Given the description of an element on the screen output the (x, y) to click on. 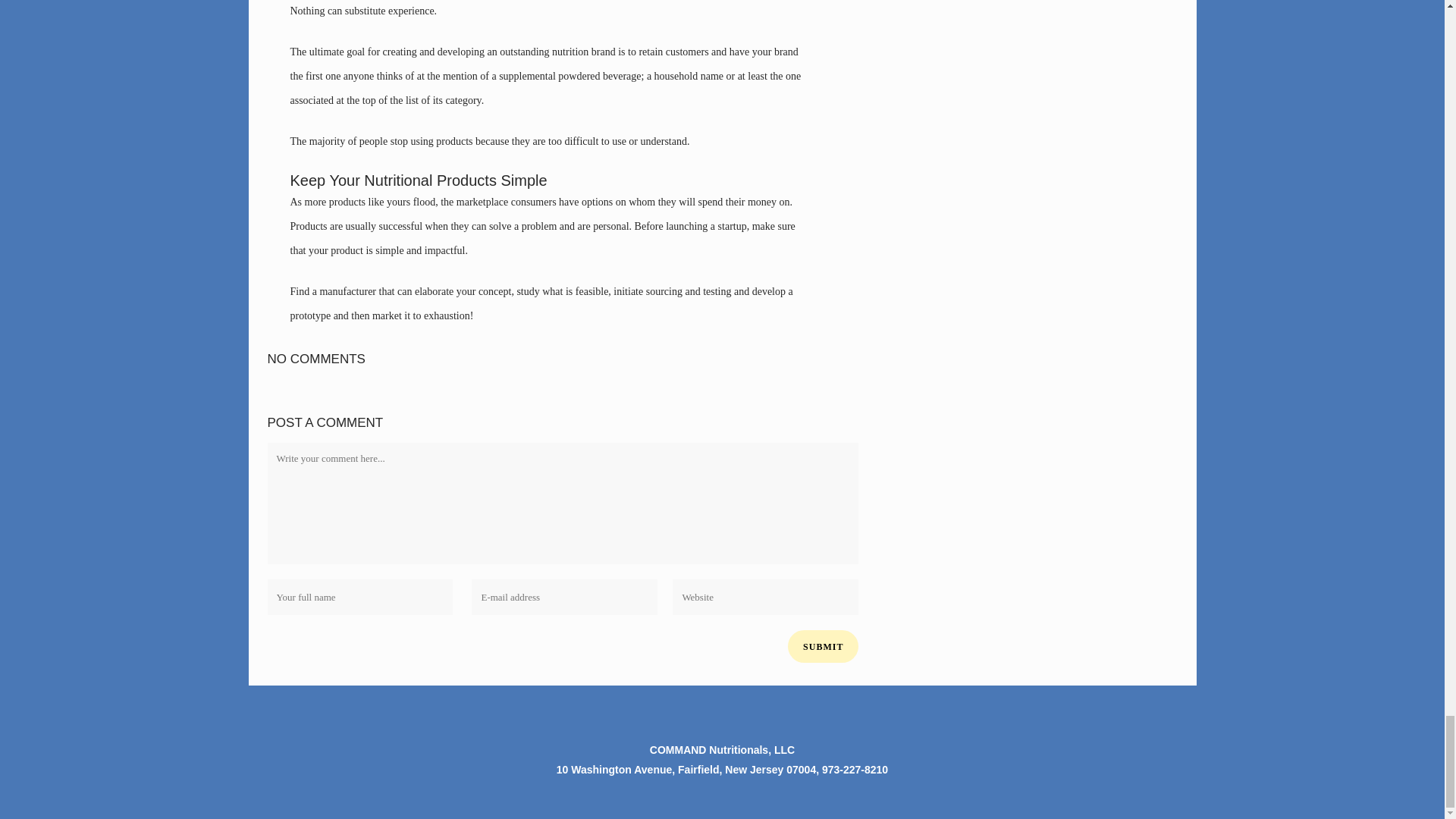
Submit (823, 645)
Submit (823, 645)
